Given the description of an element on the screen output the (x, y) to click on. 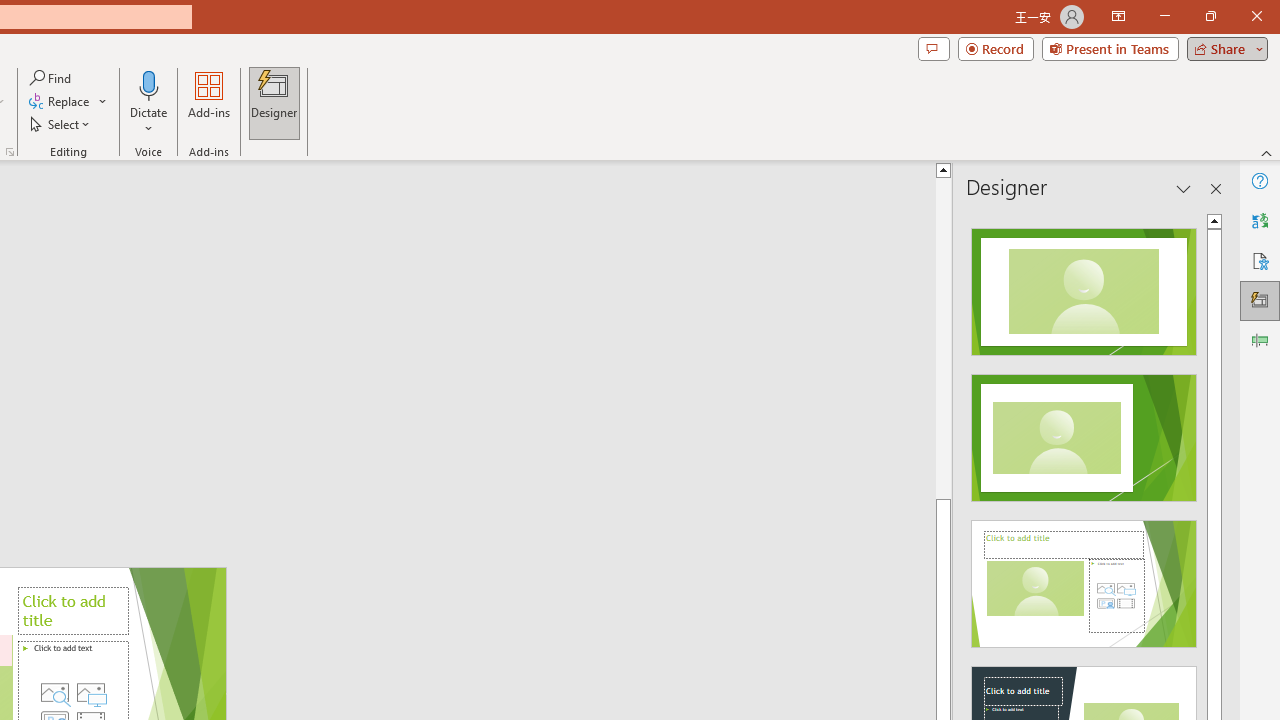
Pictures (91, 692)
